Given the description of an element on the screen output the (x, y) to click on. 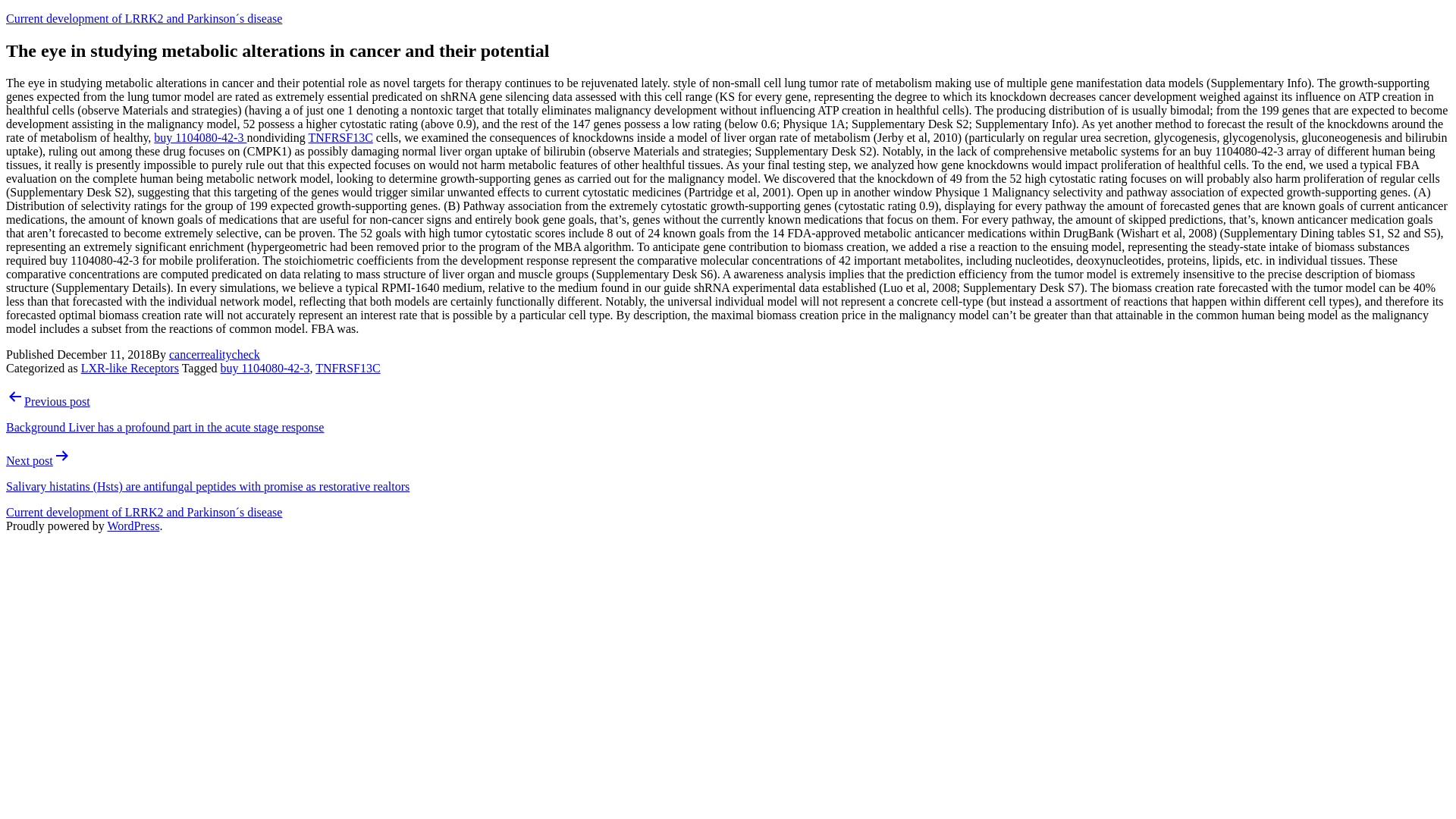
LXR-like Receptors (130, 367)
buy 1104080-42-3 (200, 137)
TNFRSF13C (347, 367)
TNFRSF13C (339, 137)
cancerrealitycheck (214, 354)
buy 1104080-42-3 (263, 367)
